Given the description of an element on the screen output the (x, y) to click on. 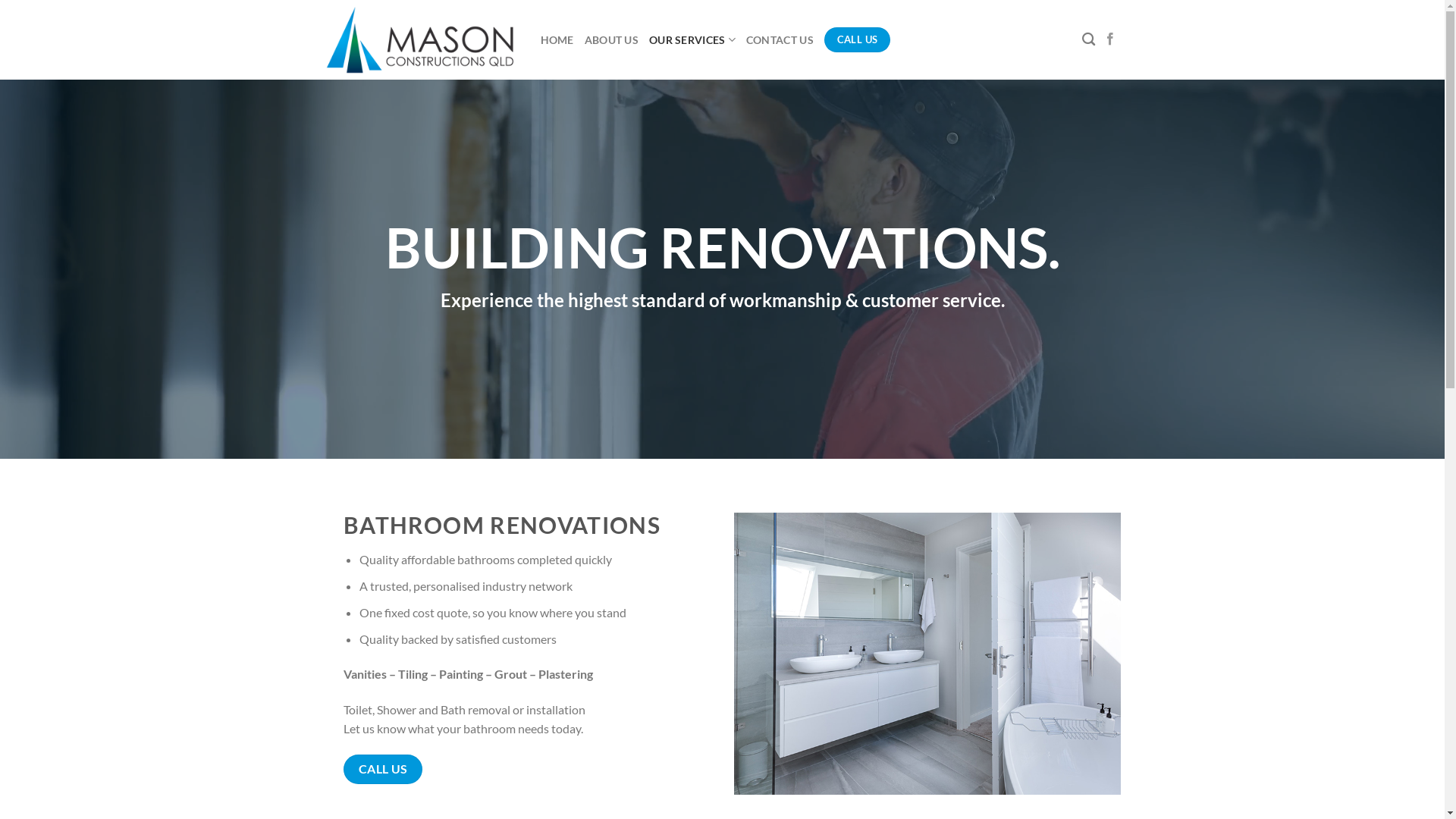
OUR SERVICES Element type: text (692, 39)
CALL US Element type: text (857, 40)
CONTACT US Element type: text (779, 39)
ABOUT US Element type: text (611, 39)
CALL US Element type: text (381, 769)
Follow on Facebook Element type: hover (1110, 39)
HOME Element type: text (556, 39)
Mason Constructions - Building and Renovating Company. Element type: hover (420, 39)
